Given the description of an element on the screen output the (x, y) to click on. 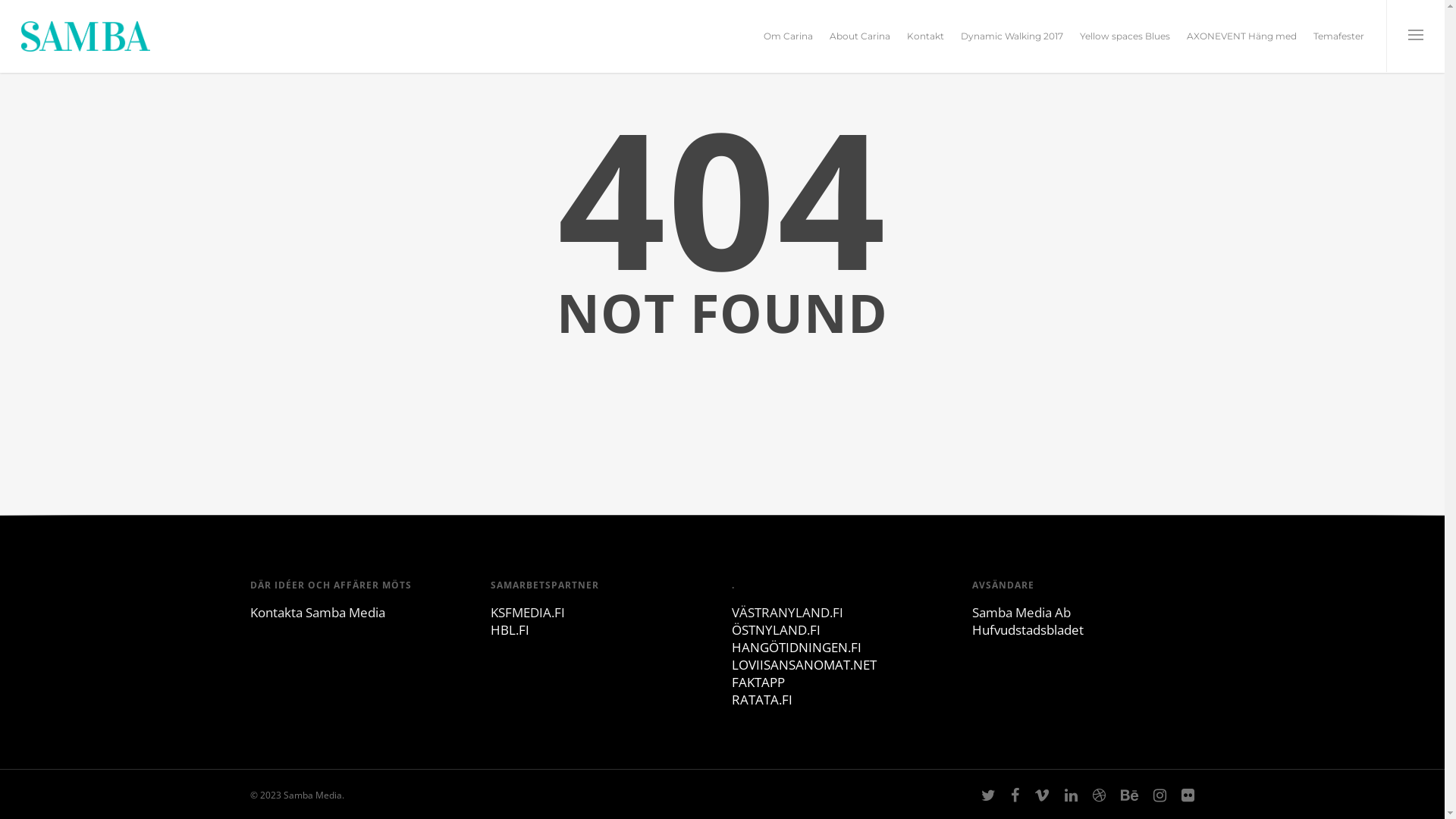
Samba Media Ab Element type: text (1021, 612)
Temafester Element type: text (1338, 46)
RATATA.FI Element type: text (761, 699)
Kontakt Element type: text (925, 46)
HBL.FI Element type: text (509, 629)
KSFMEDIA.FI Element type: text (527, 612)
Samba Media Element type: text (345, 612)
Hufvudstadsbladet Element type: text (1027, 629)
Om Carina Element type: text (788, 46)
Dynamic Walking 2017 Element type: text (1011, 46)
About Carina Element type: text (859, 46)
FAKTAPP Element type: text (757, 681)
LOVIISANSANOMAT.NET Element type: text (803, 664)
Yellow spaces Blues Element type: text (1124, 46)
